Given the description of an element on the screen output the (x, y) to click on. 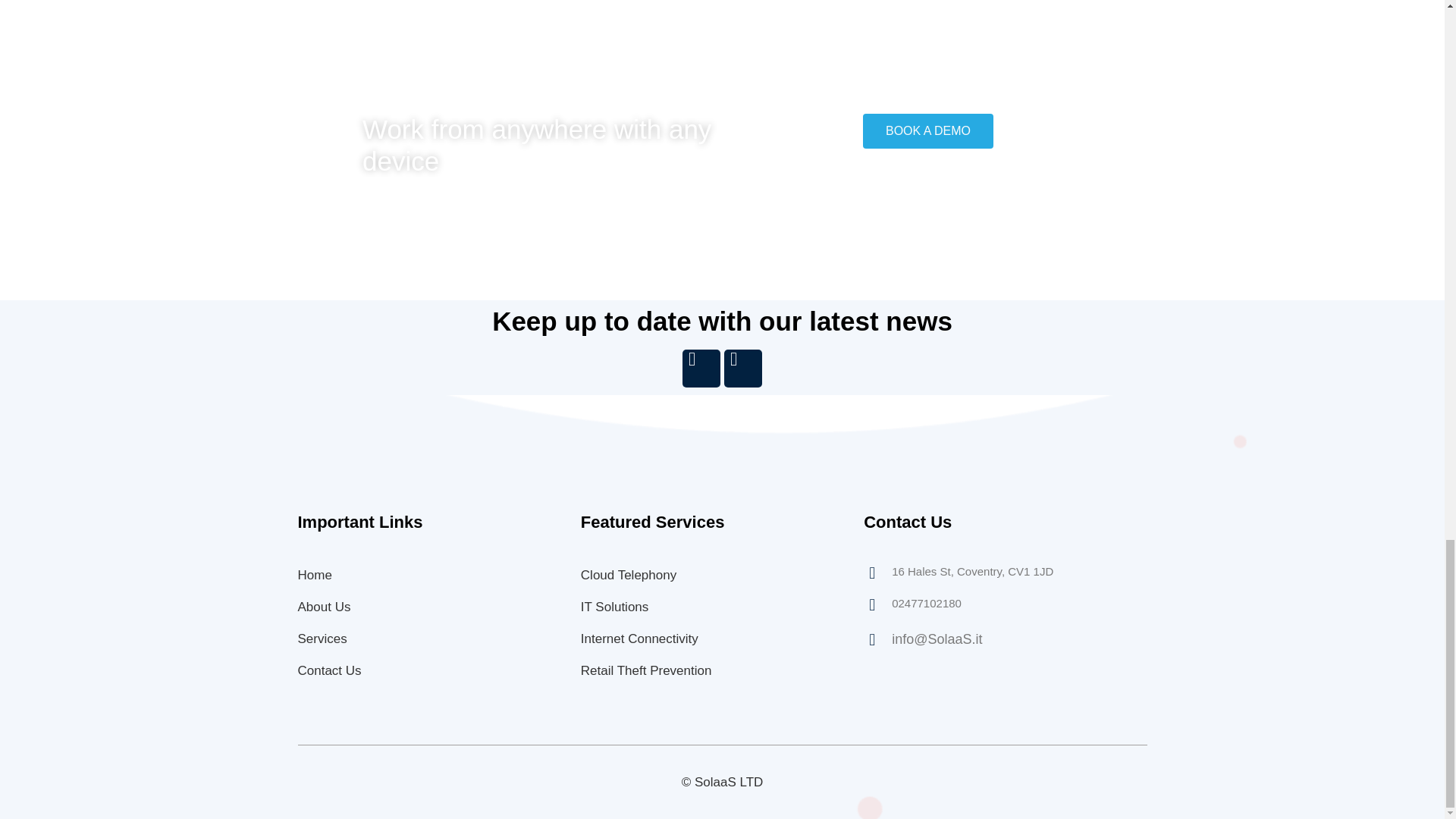
02477102180 (925, 603)
BOOK A DEMO (927, 130)
Internet Connectivity (639, 638)
IT Solutions (613, 606)
Cloud Telephony (628, 575)
Home (314, 575)
Retail Theft Prevention (645, 670)
Services (321, 638)
16 Hales St, Coventry, CV1 1JD (971, 571)
About Us (323, 606)
Contact Us (329, 670)
